Given the description of an element on the screen output the (x, y) to click on. 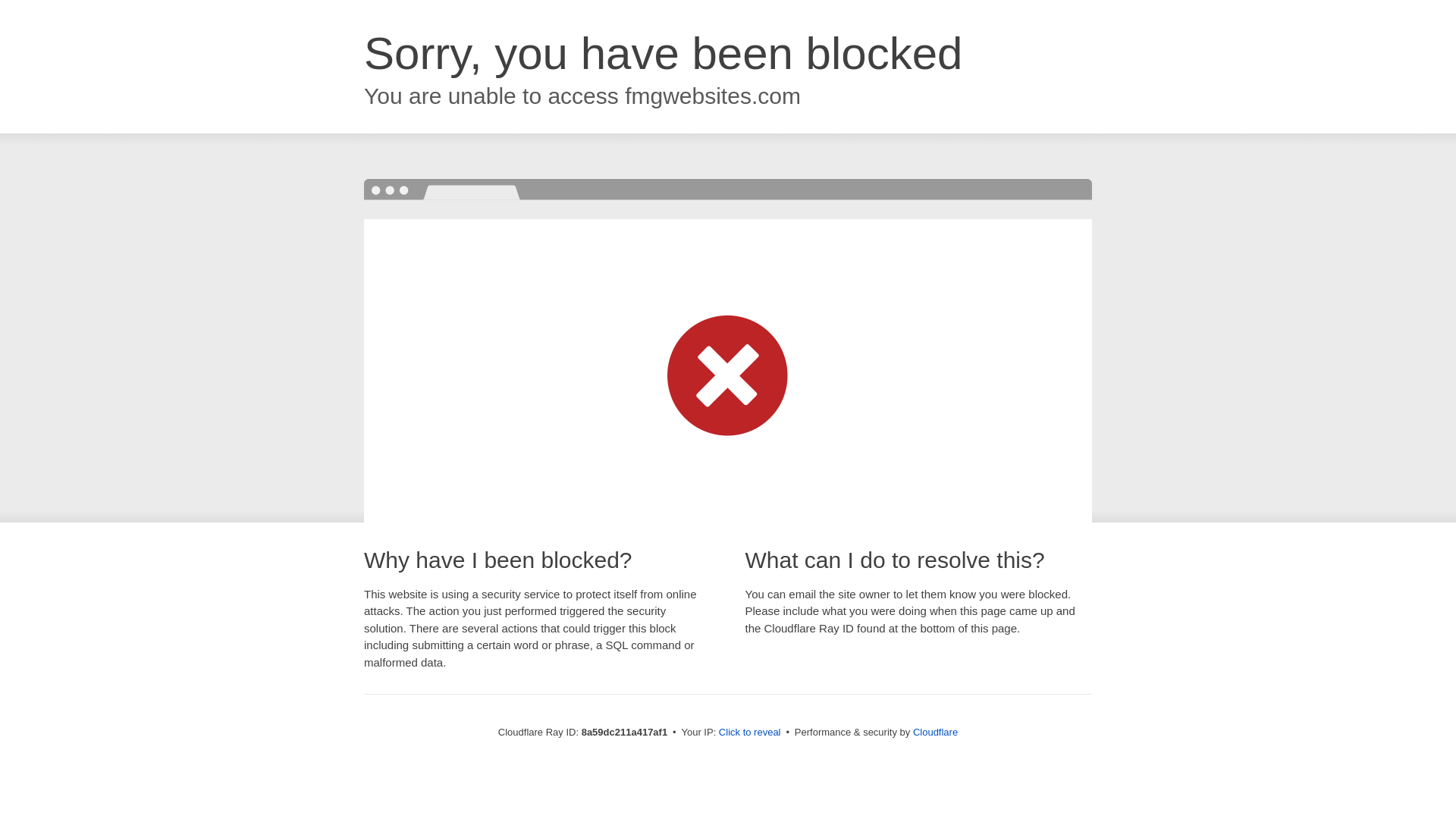
Click to reveal (749, 732)
Cloudflare (935, 731)
